Given the description of an element on the screen output the (x, y) to click on. 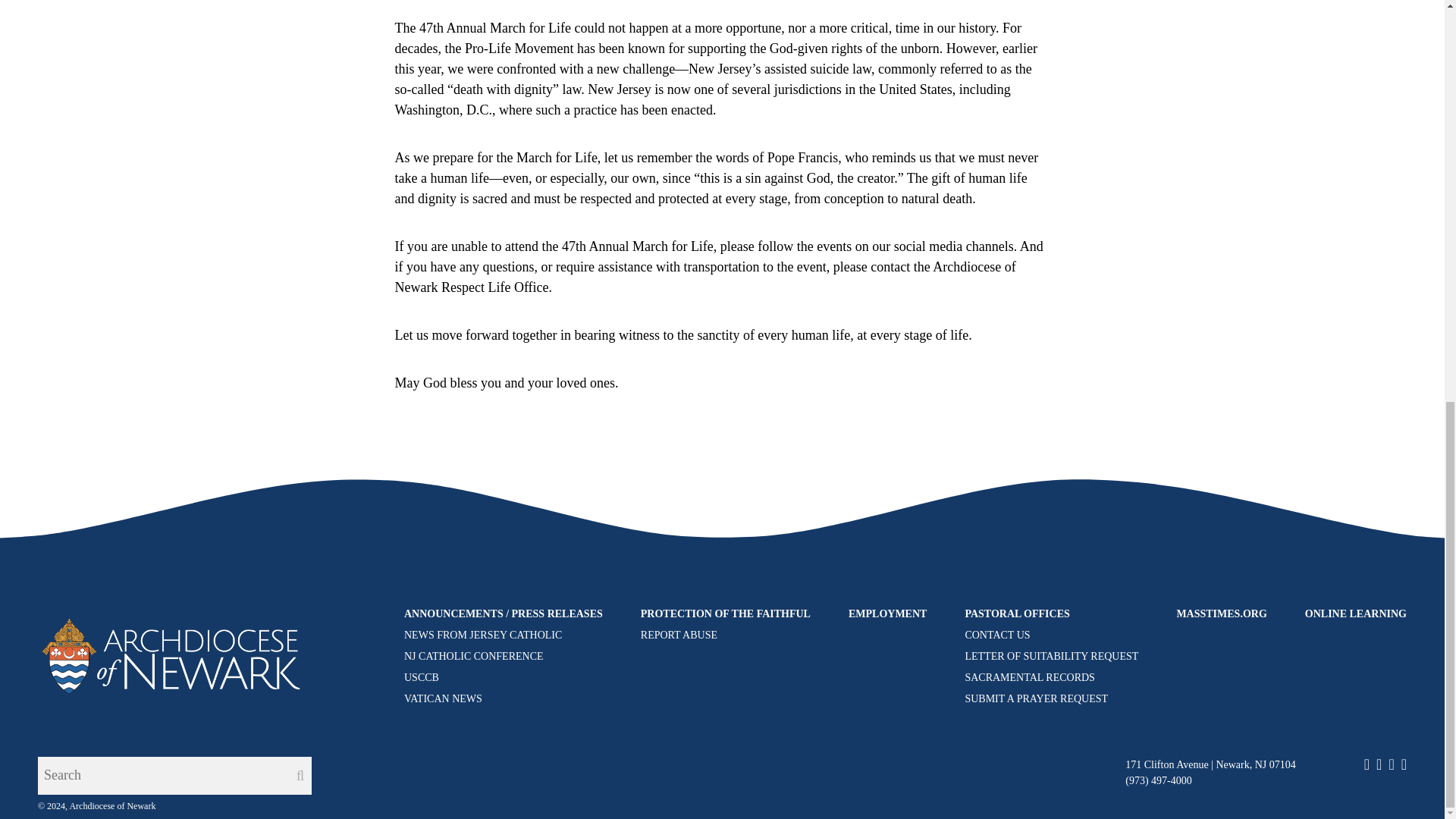
LETTER OF SUITABILITY REQUEST (1050, 655)
NJ CATHOLIC CONFERENCE (473, 655)
VATICAN NEWS (442, 698)
USCCB (421, 677)
SUBMIT A PRAYER REQUEST (1035, 698)
CONTACT US (996, 634)
PASTORAL OFFICES (1050, 613)
ONLINE LEARNING (1355, 613)
NEWS FROM JERSEY CATHOLIC (483, 634)
Next (1026, 506)
